Given the description of an element on the screen output the (x, y) to click on. 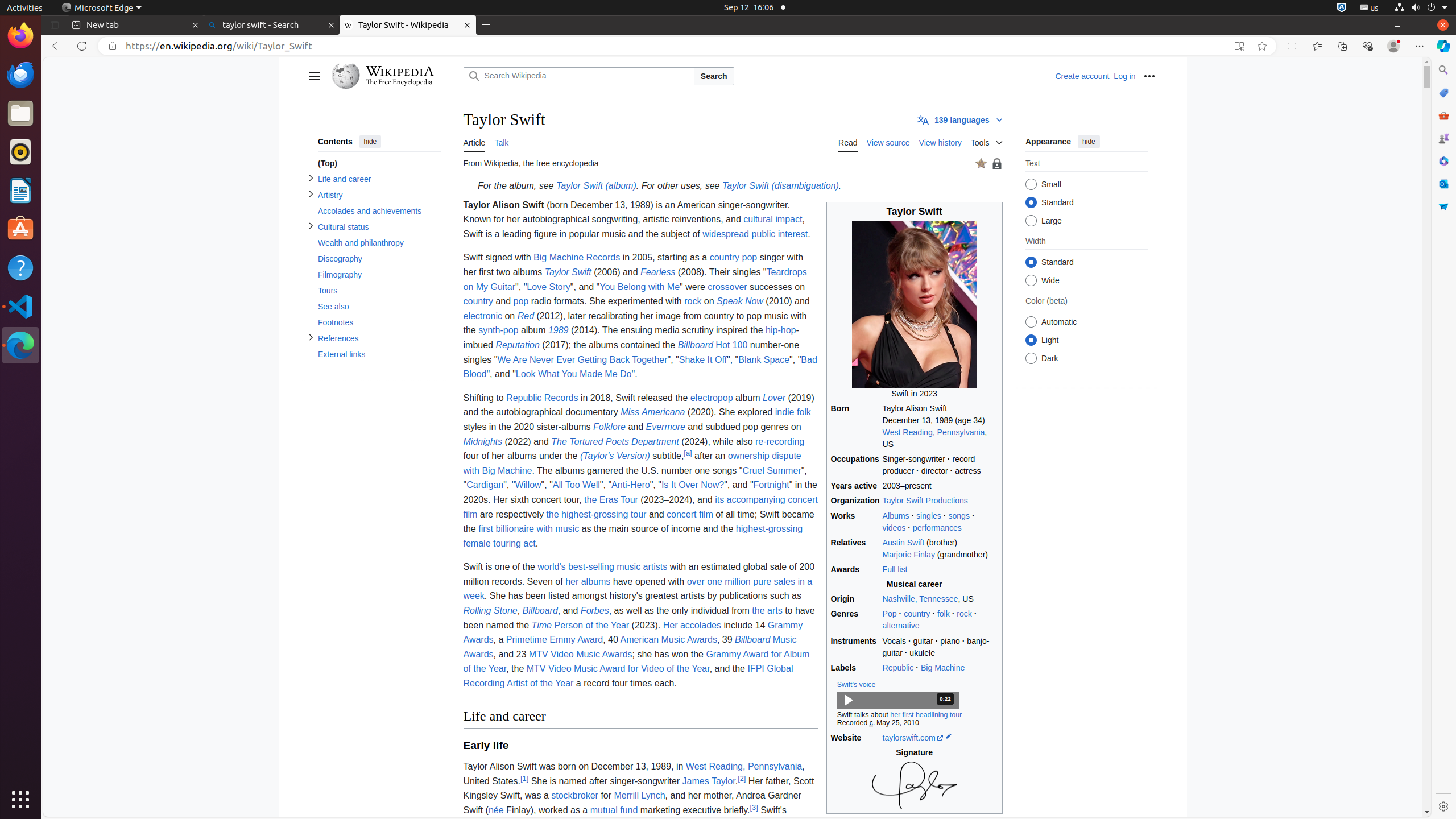
Wide Element type: radio-button (1030, 280)
Microsoft Edge Element type: menu (101, 7)
Outlook Element type: push-button (1443, 183)
her albums Element type: link (587, 581)
Filmography Element type: link (378, 274)
